Given the description of an element on the screen output the (x, y) to click on. 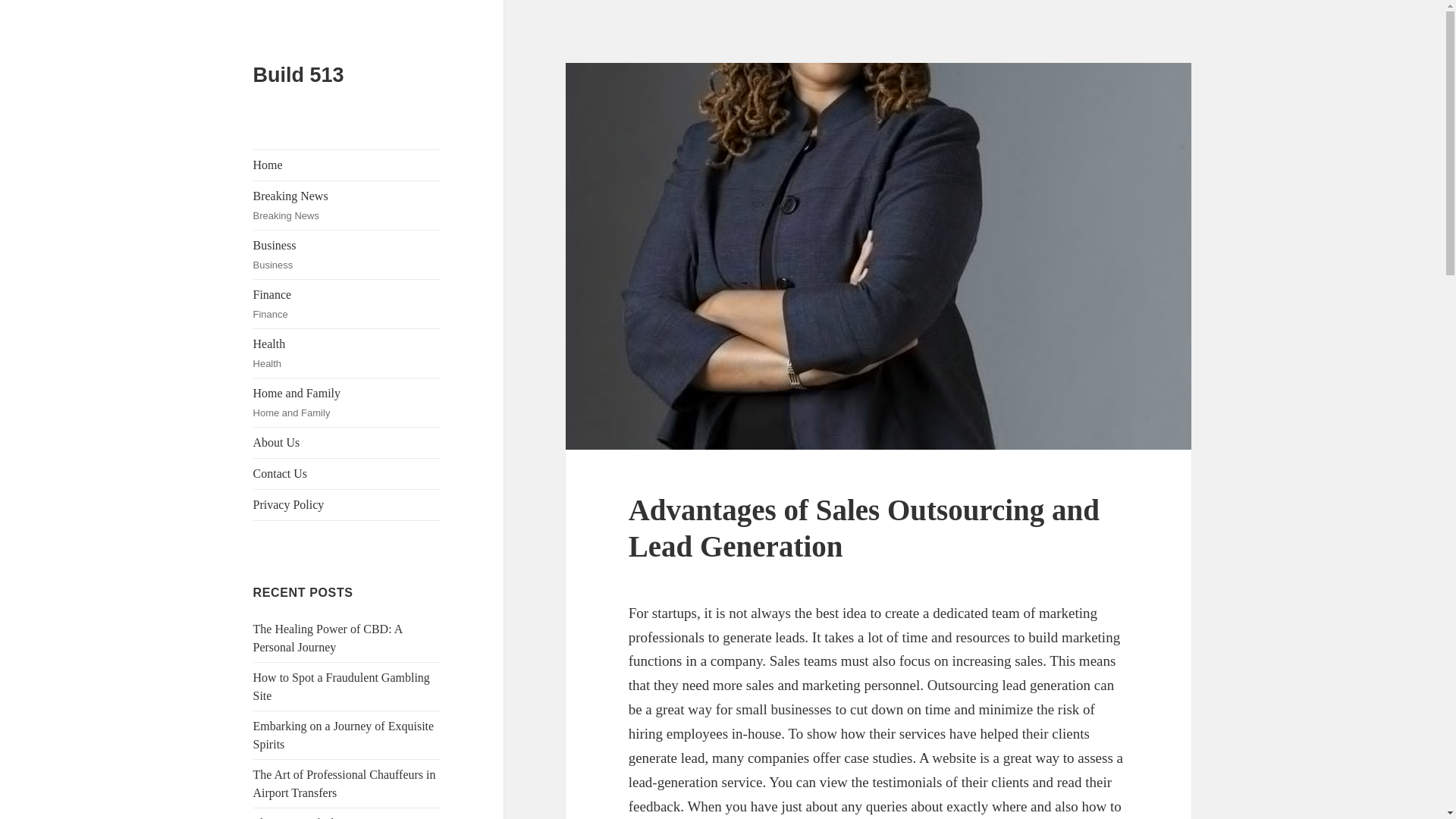
The Healing Power of CBD: A Personal Journey (328, 637)
Privacy Policy (347, 353)
Home (347, 504)
Embarking on a Journey of Exquisite Spirits (347, 304)
About Us (347, 254)
The Art of Professional Chauffeurs in Airport Transfers (347, 164)
How to Spot a Fraudulent Gambling Site (343, 735)
Build 513 (347, 442)
Contact Us (344, 783)
